Given the description of an element on the screen output the (x, y) to click on. 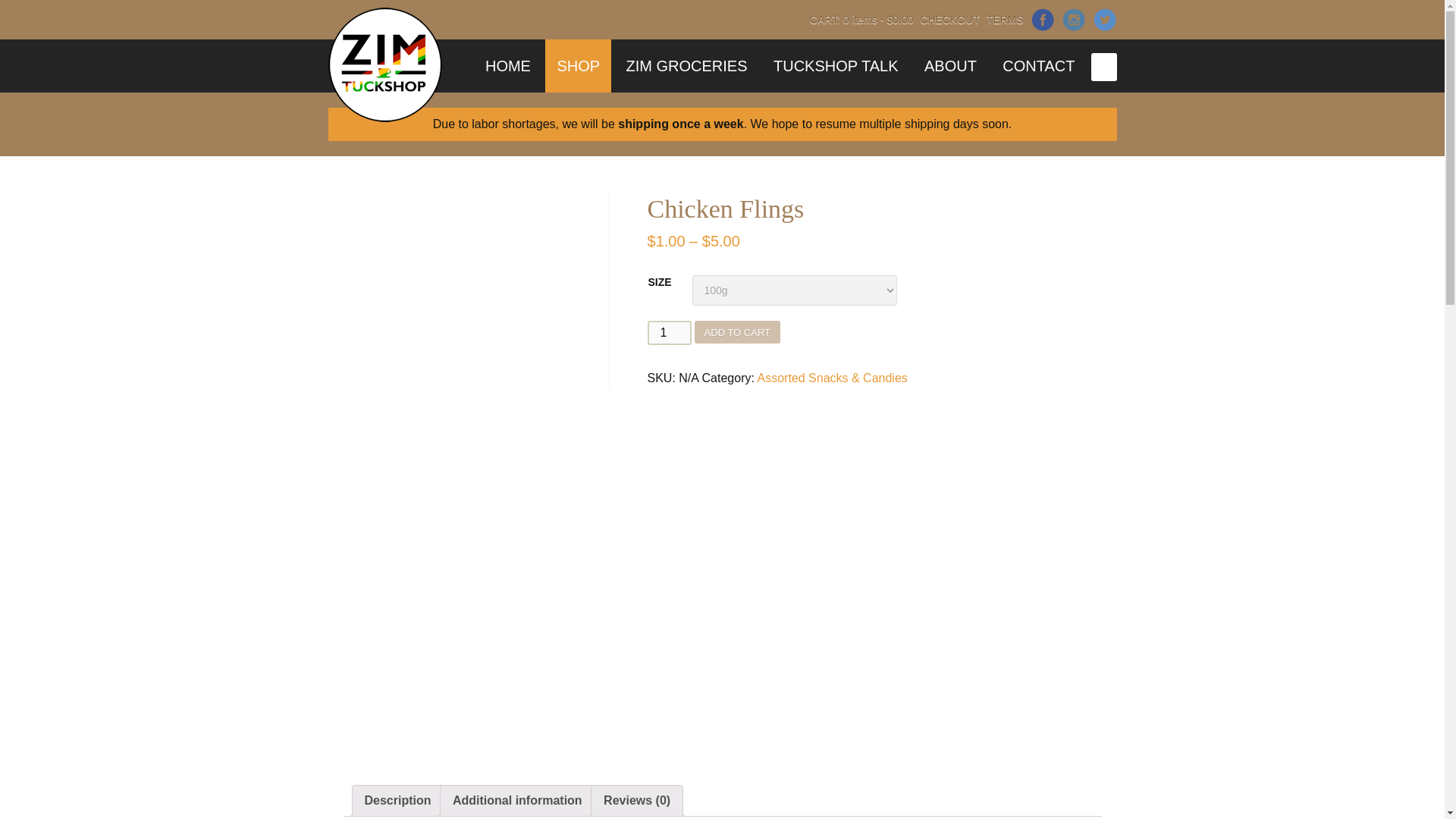
View your shopping cart (861, 19)
Additional information (517, 800)
CEREALS (619, 109)
HOME (507, 65)
TERMS (1005, 19)
TUCKSHOP TALK (835, 65)
ADD TO CART (737, 332)
Description (397, 800)
SHOP (577, 65)
1 (669, 332)
CONTACT (1038, 65)
Zim Tuckshop (384, 64)
Qty (669, 332)
CHECKOUT (949, 19)
